Given the description of an element on the screen output the (x, y) to click on. 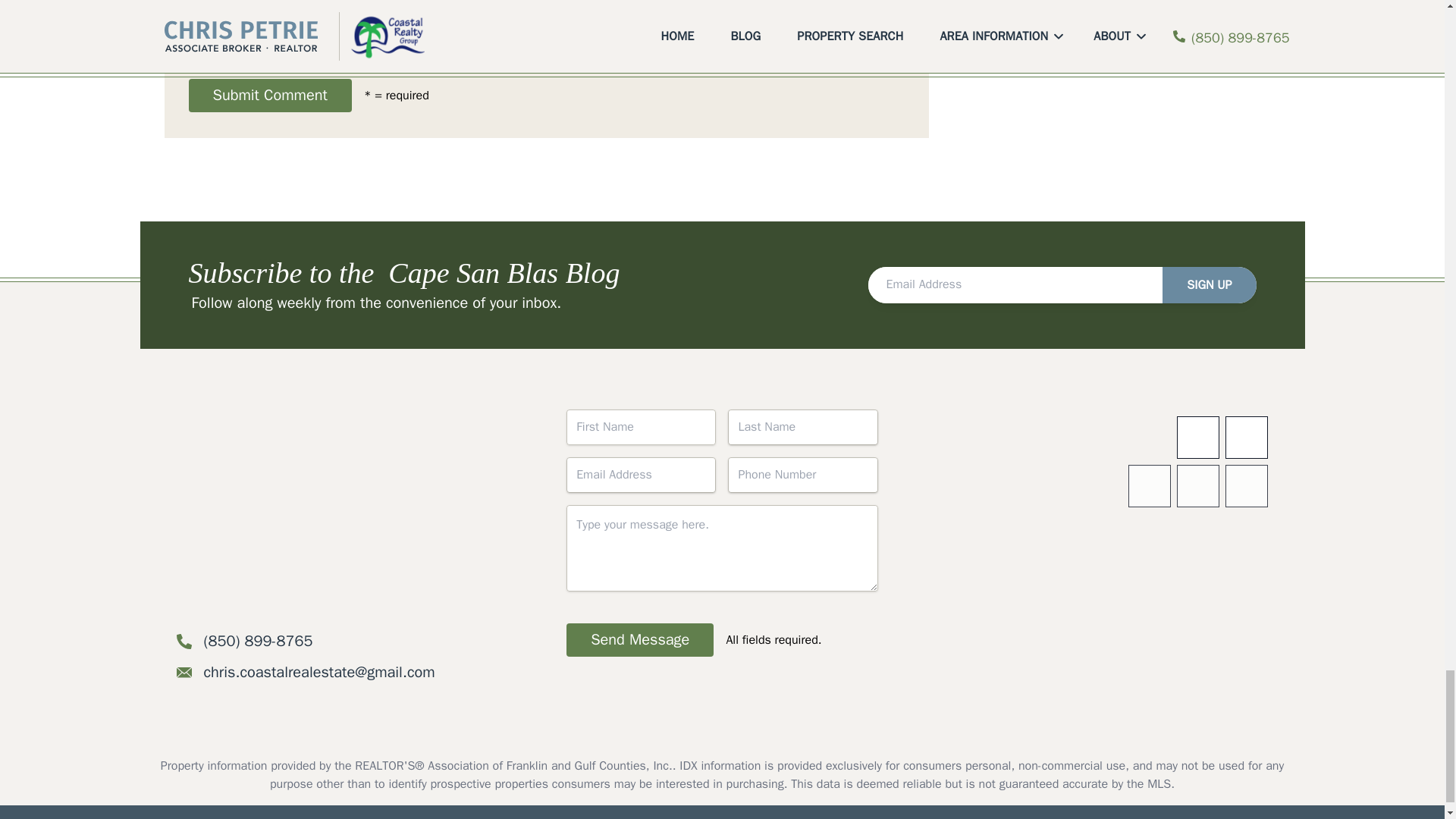
Submit Comment (268, 95)
